Given the description of an element on the screen output the (x, y) to click on. 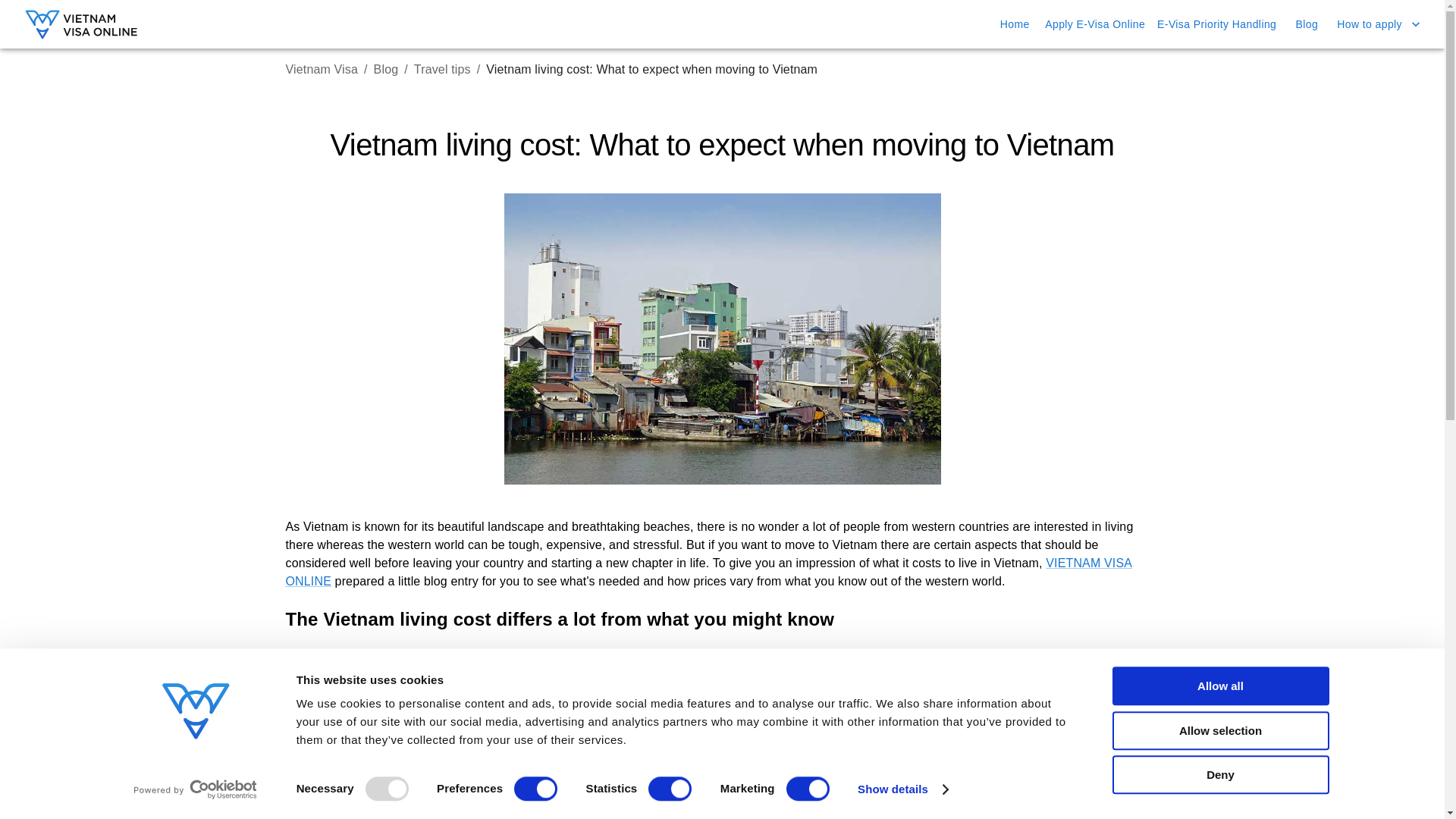
Allow selection (1219, 730)
Show details (902, 789)
Vietnam Visa (321, 69)
Allow all (1219, 685)
VIETNAM VISA ONLINE (708, 572)
Blog (386, 69)
Blog (1306, 24)
Apply E-Visa Online (1095, 24)
Travel tips (441, 69)
Deny (1219, 774)
